Given the description of an element on the screen output the (x, y) to click on. 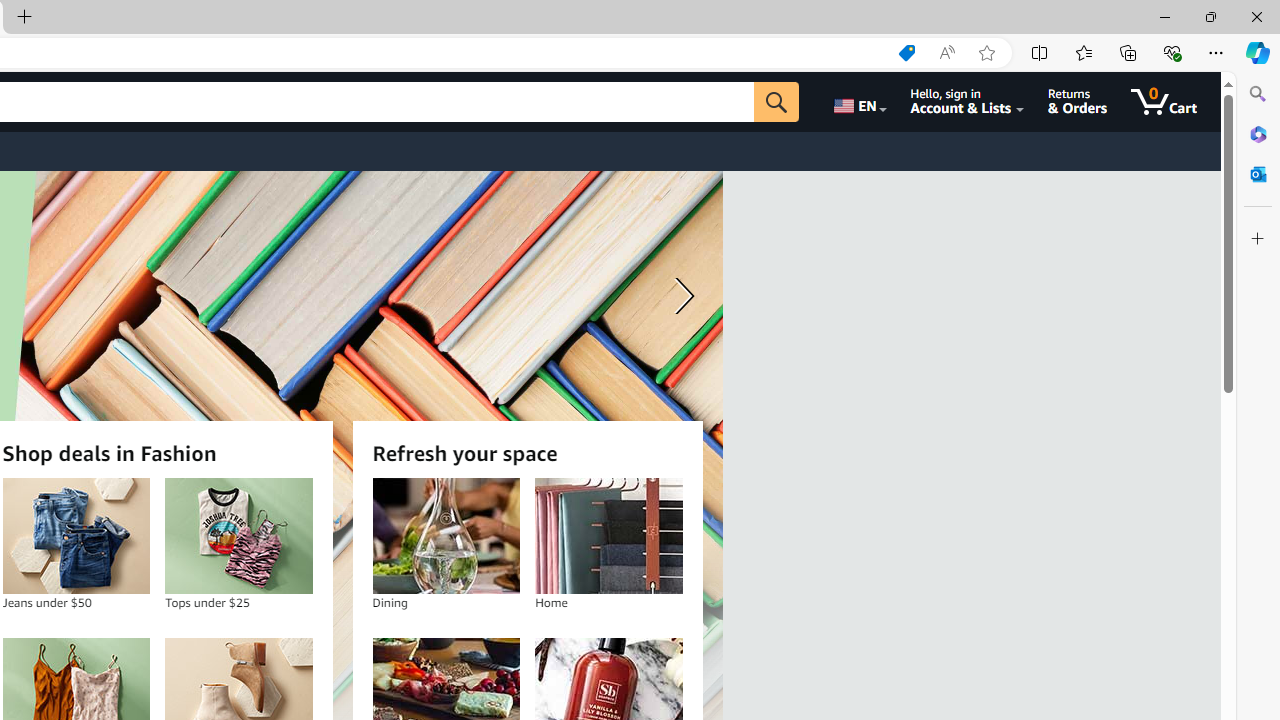
Tops under $25 (238, 536)
Tops under $25 (239, 536)
Hello, sign in Account & Lists (967, 101)
Choose a language for shopping. (858, 101)
Dining (445, 536)
Dining (445, 536)
